Given the description of an element on the screen output the (x, y) to click on. 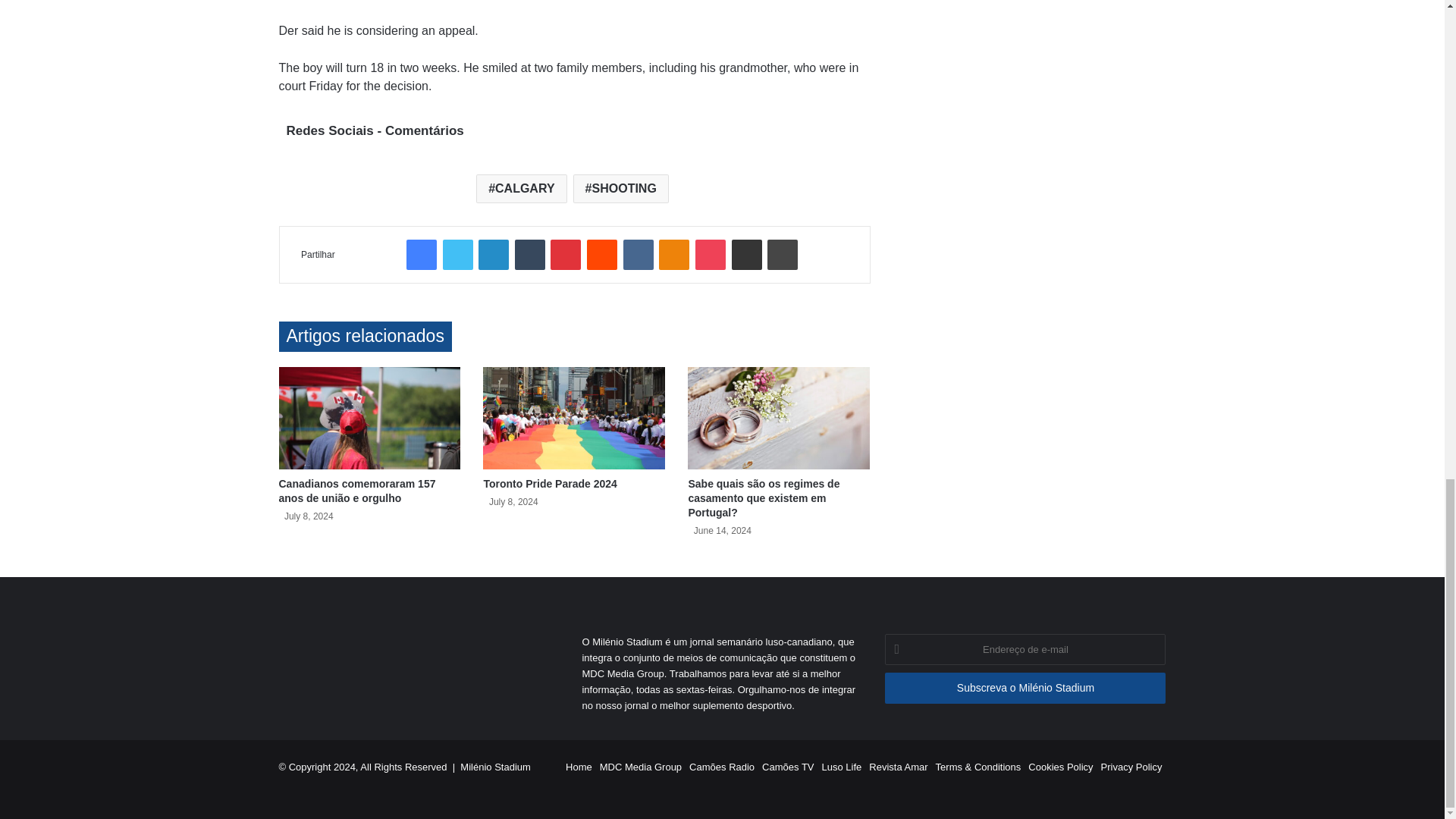
Pocket (710, 254)
Reddit (601, 254)
Odnoklassniki (673, 254)
Twitter (457, 254)
Partilha via e-mail (746, 254)
Tumblr (529, 254)
Imprimir (782, 254)
Facebook (421, 254)
Pinterest (565, 254)
VKontakte (638, 254)
LinkedIn (493, 254)
